Given the description of an element on the screen output the (x, y) to click on. 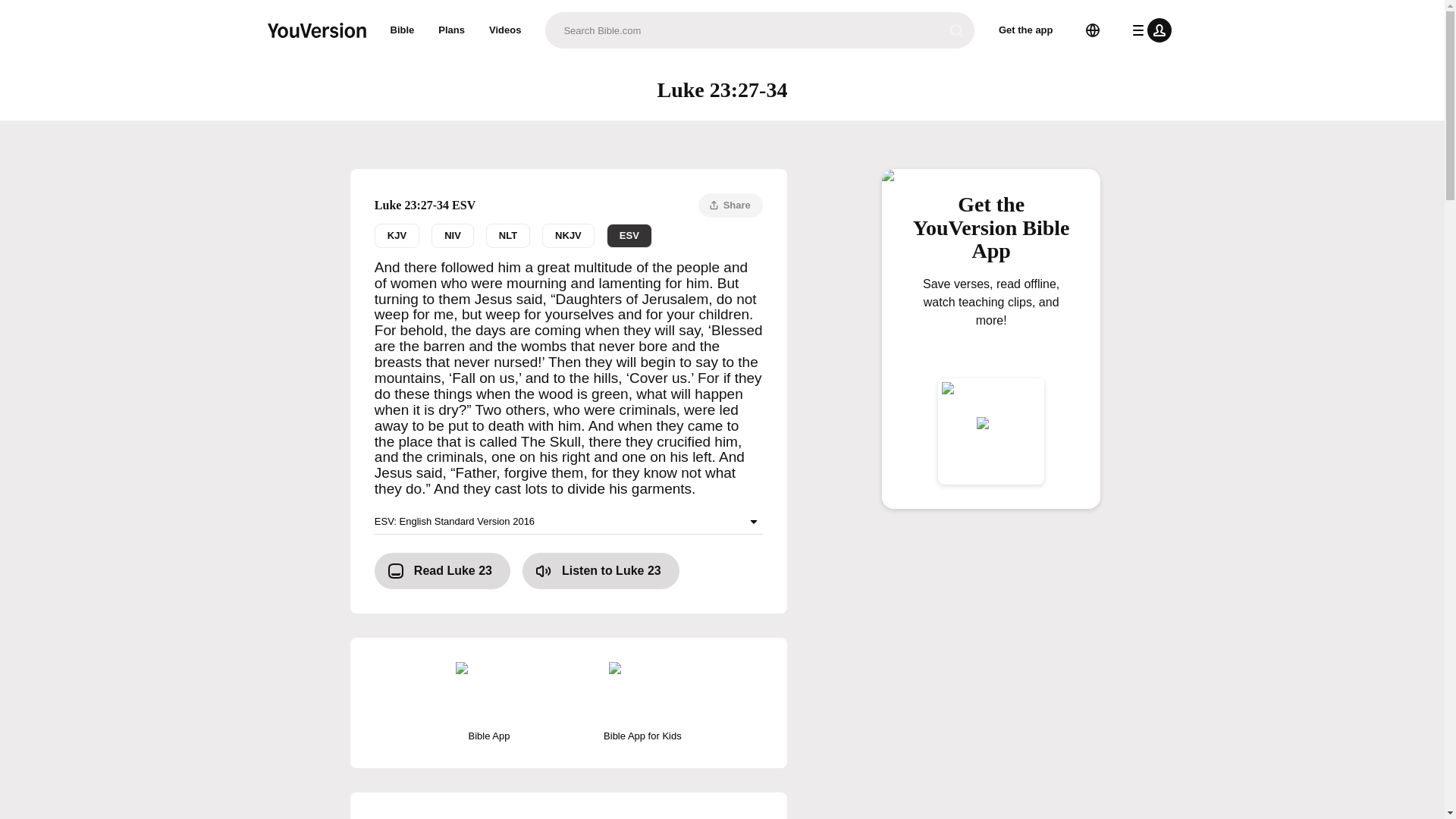
Plans (451, 29)
Read Luke 23 (442, 570)
Listen to Luke 23 (600, 570)
NKJV (567, 235)
Share (730, 205)
ESV (629, 235)
NIV (452, 235)
Bible App (488, 702)
Bible App for Kids (642, 702)
KJV (396, 235)
Videos (504, 29)
ESV: English Standard Version 2016 (568, 521)
NLT (568, 235)
